Given the description of an element on the screen output the (x, y) to click on. 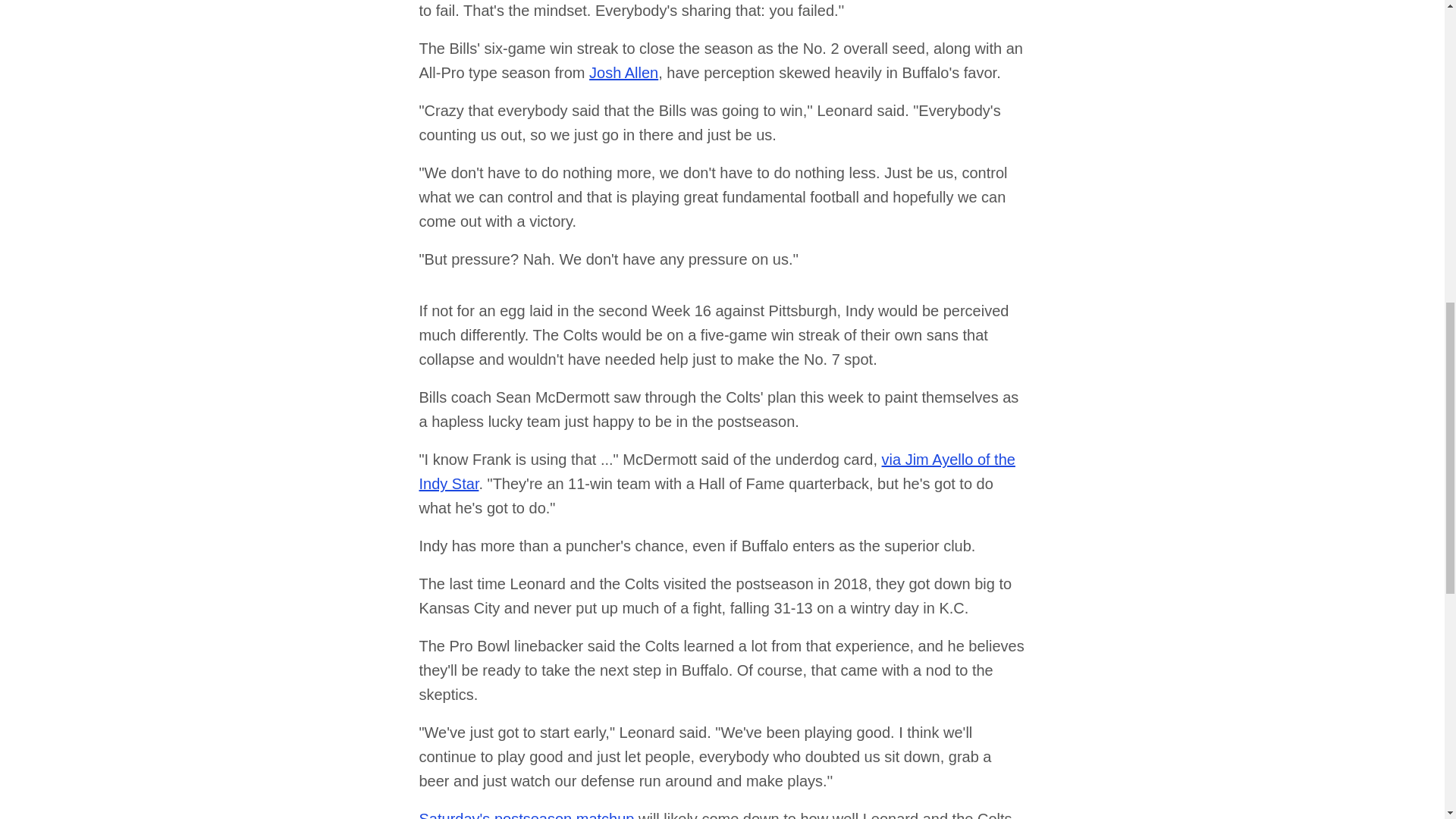
via Jim Ayello of the Indy Star (716, 471)
Josh Allen (623, 72)
Saturday's postseason matchup (526, 814)
